Given the description of an element on the screen output the (x, y) to click on. 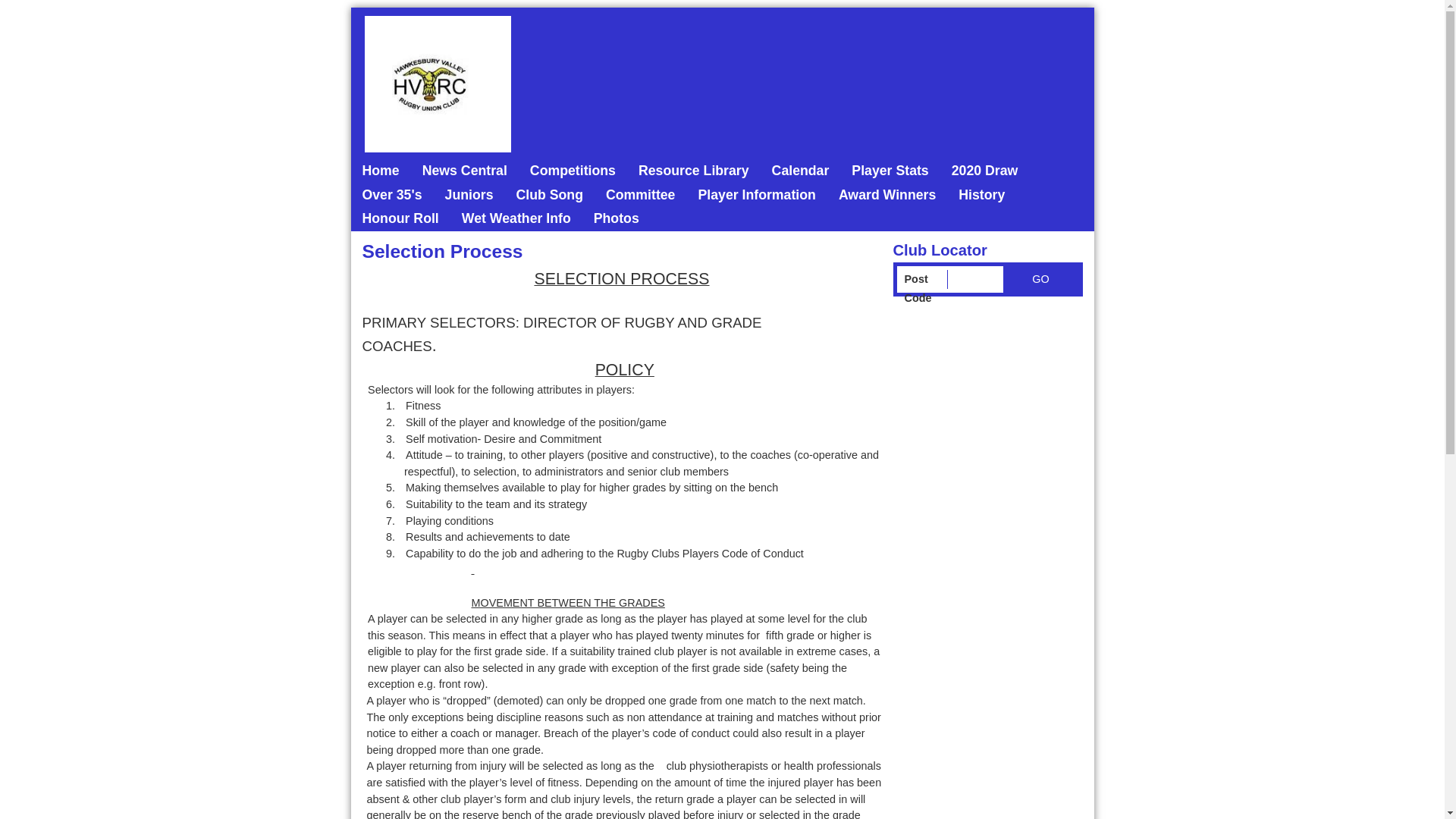
Home Element type: text (380, 171)
2020 Draw Element type: text (984, 171)
Competitions Element type: text (572, 171)
Go Element type: text (1040, 279)
Juniors Element type: text (469, 195)
Honour Roll Element type: text (399, 219)
Photos Element type: text (616, 219)
Club Song Element type: text (549, 195)
Award Winners Element type: text (887, 195)
Player Stats Element type: text (889, 171)
Resource Library Element type: text (693, 171)
History Element type: text (981, 195)
Wet Weather Info Element type: text (516, 219)
Committee Element type: text (640, 195)
Calendar Element type: text (800, 171)
Player Information Element type: text (756, 195)
News Central Element type: text (464, 171)
Over 35's Element type: text (391, 195)
